Given the description of an element on the screen output the (x, y) to click on. 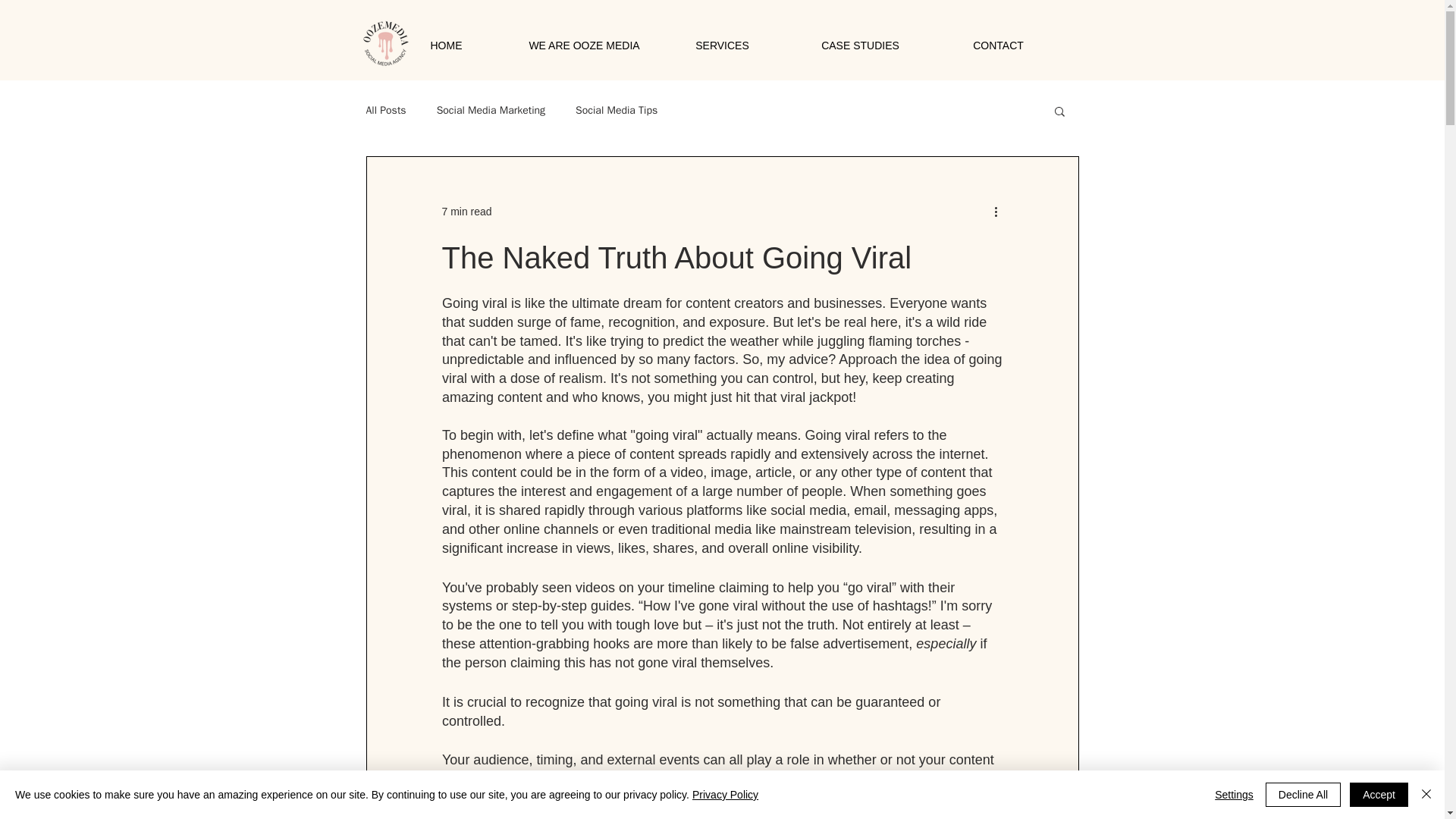
CONTACT (998, 45)
social media marketig agency (384, 45)
7 min read (466, 210)
WE ARE OOZE MEDIA (584, 45)
All Posts (385, 110)
Social Media Tips (616, 110)
CASE STUDIES (861, 45)
Social Media Marketing (490, 110)
SERVICES (722, 45)
HOME (446, 45)
